Given the description of an element on the screen output the (x, y) to click on. 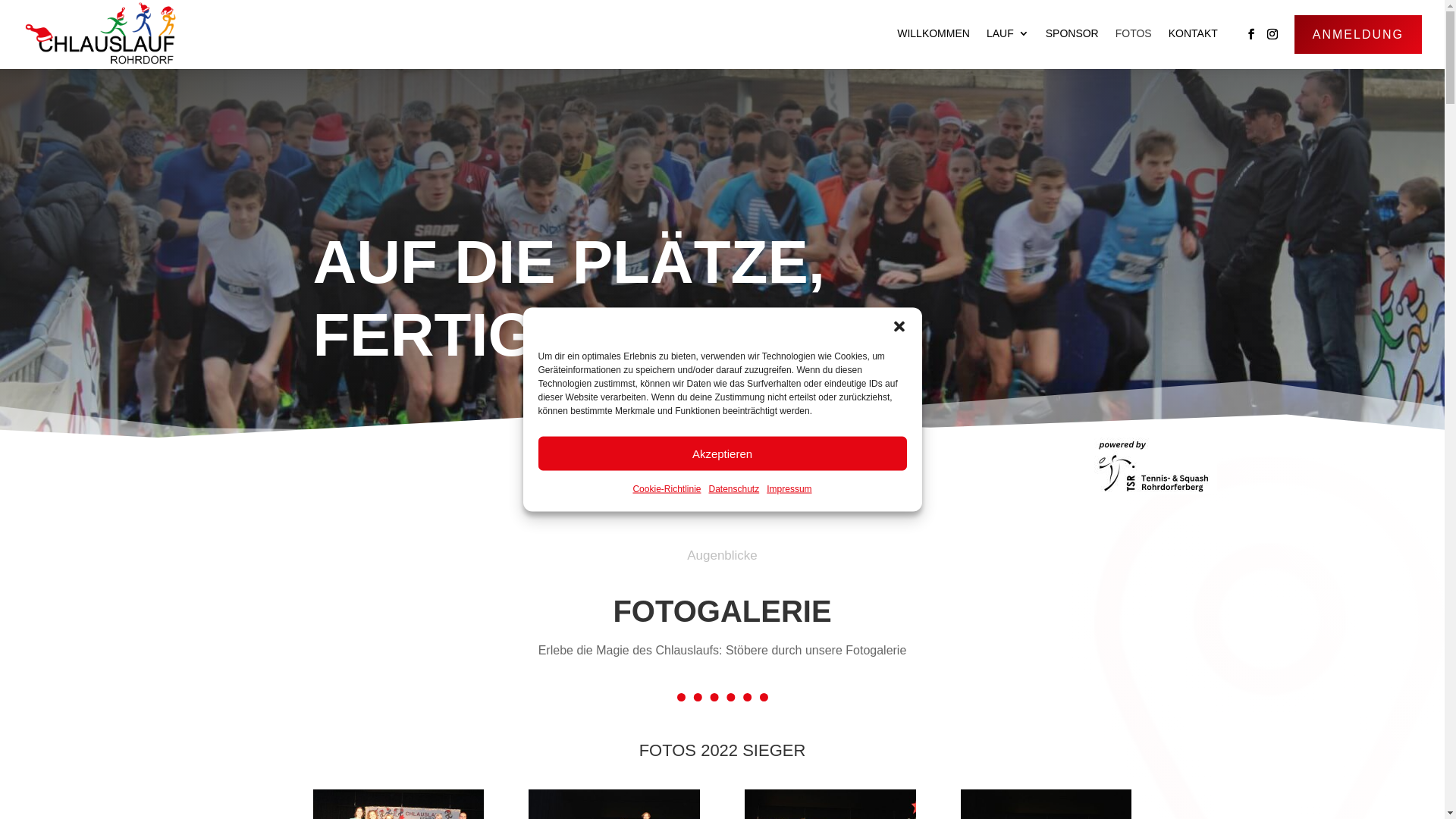
Akzeptieren Element type: text (722, 453)
Datenschutz Element type: text (733, 489)
LAUF Element type: text (1007, 33)
Impressum Element type: text (788, 489)
KONTAKT Element type: text (1192, 33)
Cookie-Richtlinie Element type: text (666, 489)
Folge auf Instagram Element type: hover (1272, 33)
WILLKOMMEN Element type: text (933, 33)
ANMELDUNG Element type: text (1357, 34)
SPONSOR Element type: text (1071, 33)
FOTOS Element type: text (1133, 33)
Folge auf Facebook Element type: hover (1250, 33)
